Given the description of an element on the screen output the (x, y) to click on. 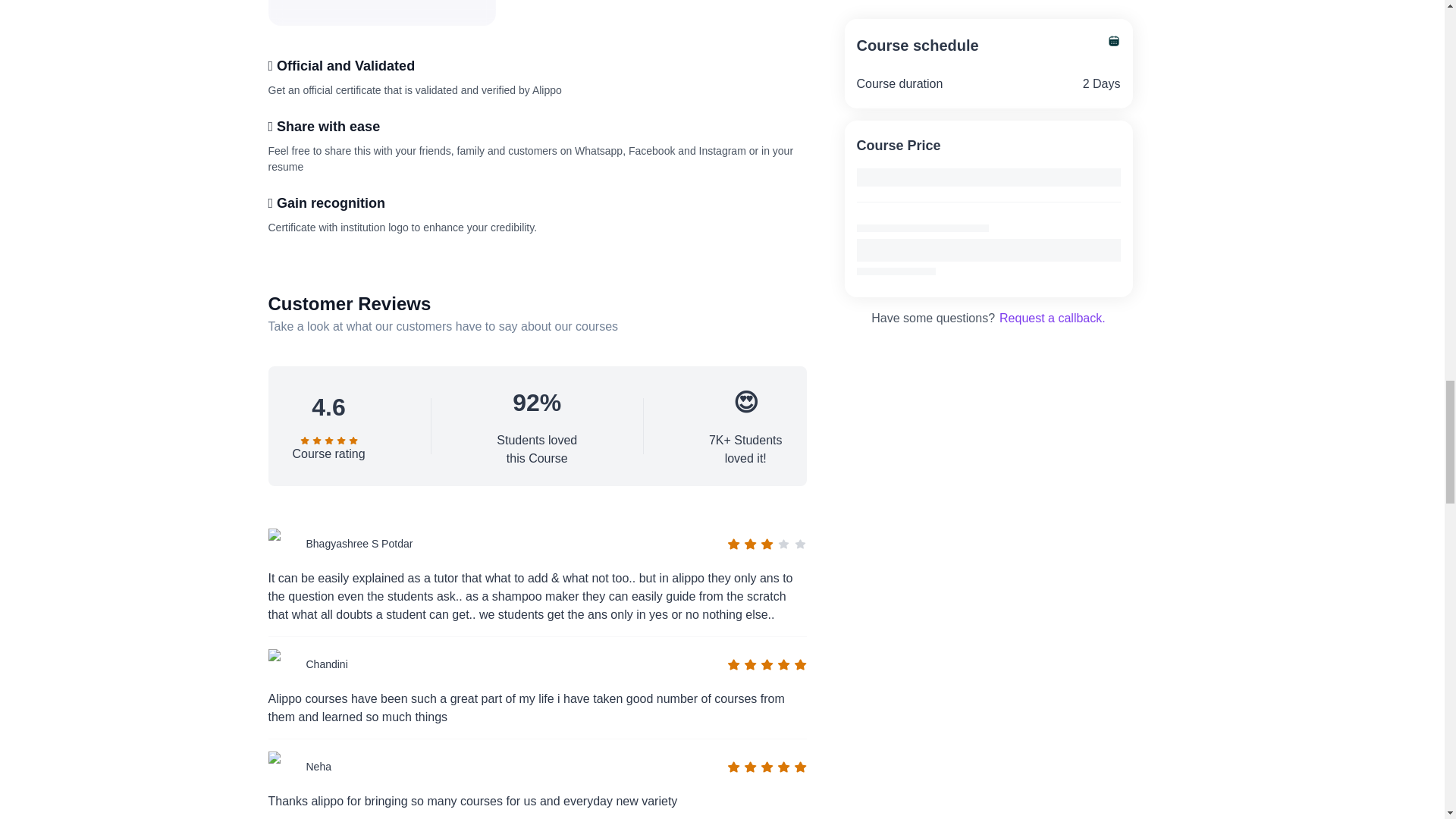
Alippo Course Certificate (381, 12)
